Given the description of an element on the screen output the (x, y) to click on. 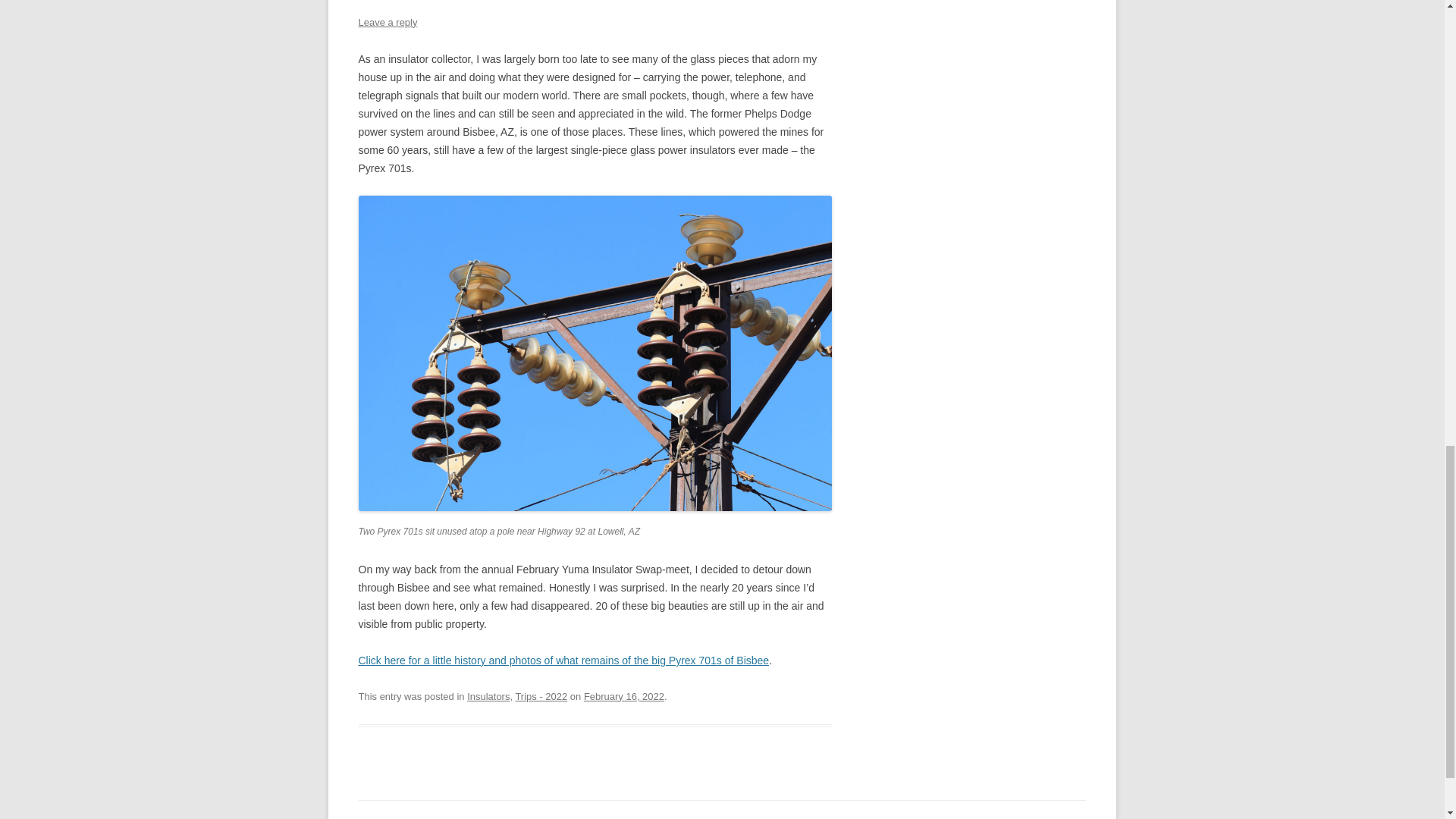
Trips - 2022 (541, 696)
Insulators (488, 696)
February 16, 2022 (623, 696)
Leave a reply (387, 21)
5:30 pm (623, 696)
